Given the description of an element on the screen output the (x, y) to click on. 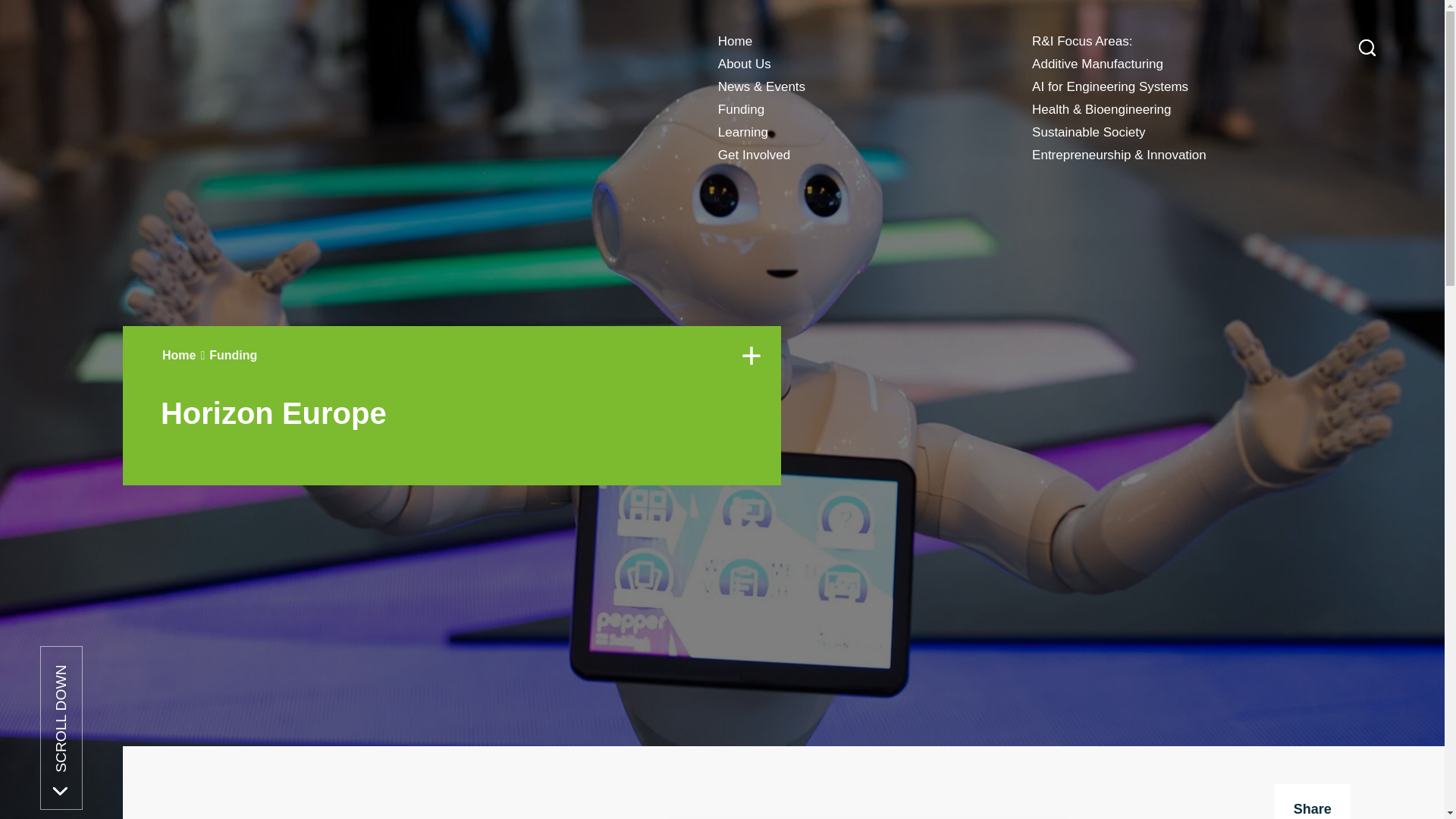
Home (735, 41)
Learning (743, 132)
Go to Funding. (233, 355)
SCROLL DOWN (101, 708)
Go to home. (178, 355)
Funding (740, 109)
About Us (744, 64)
Get Involved (753, 155)
SCROLL DOWN (121, 667)
